Given the description of an element on the screen output the (x, y) to click on. 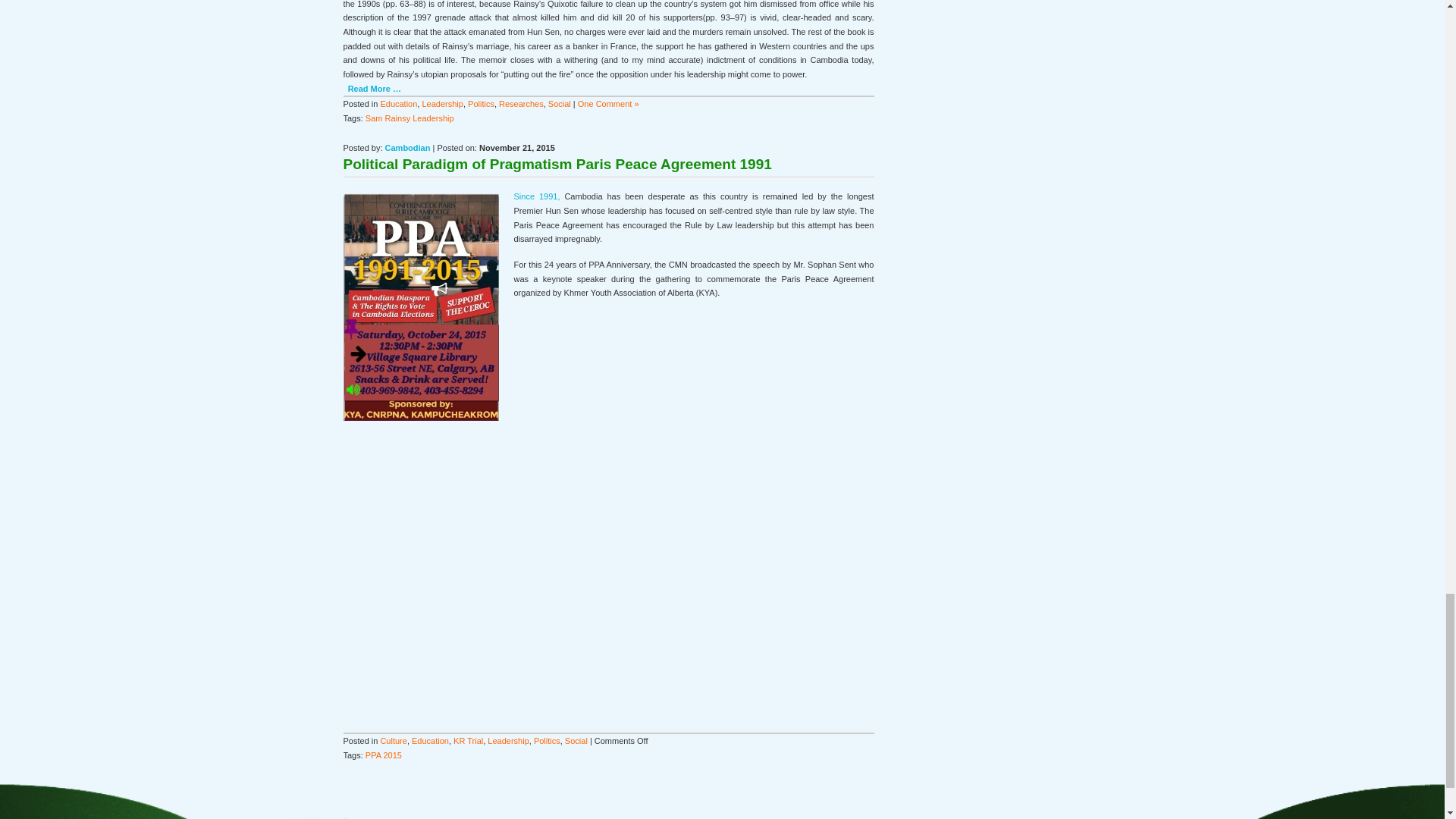
Posts by Cambodian (407, 147)
